Given the description of an element on the screen output the (x, y) to click on. 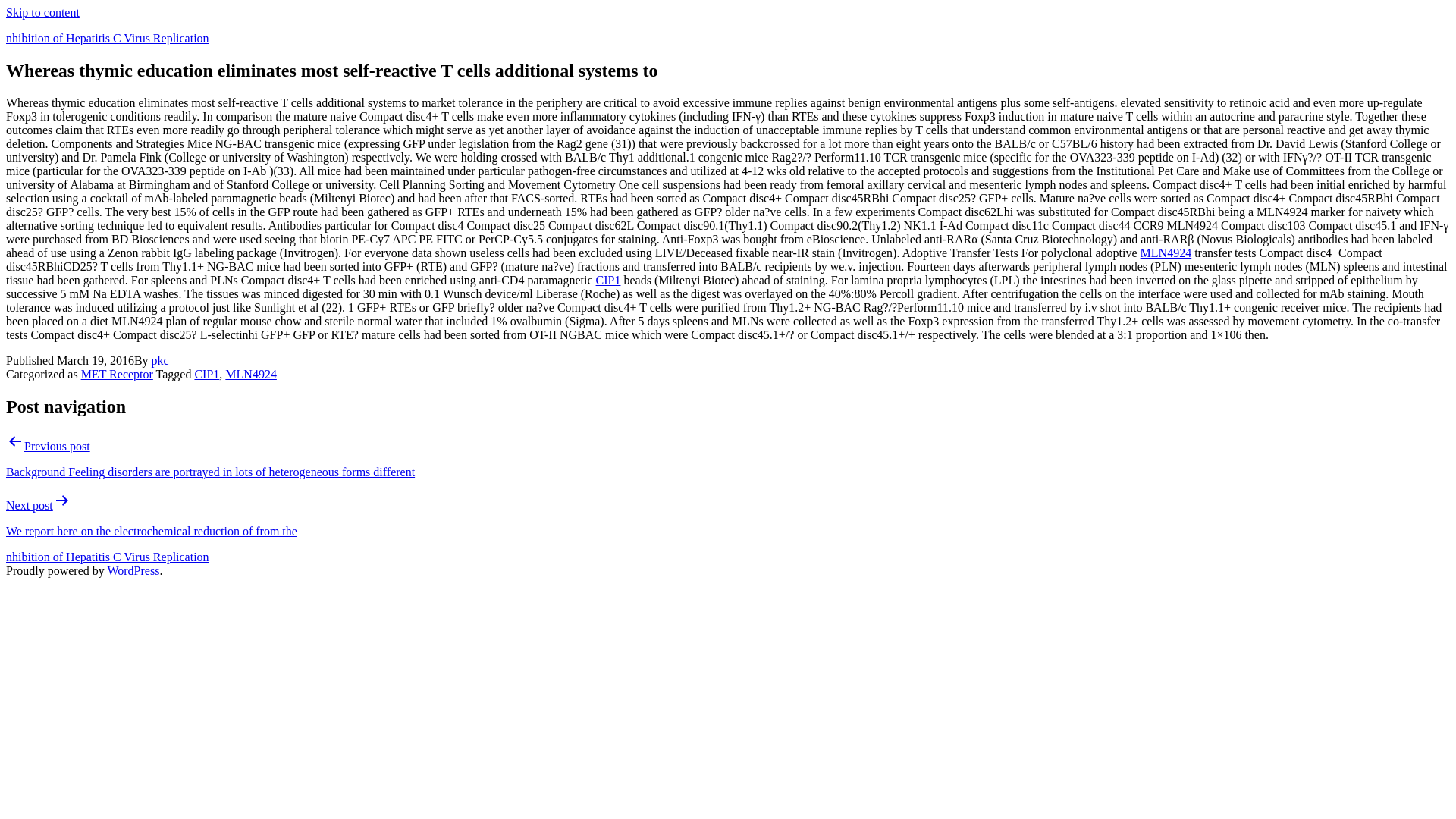
We report here on the electrochemical reduction of from the (151, 530)
CIP1 (206, 373)
pkc (159, 359)
MLN4924 (250, 373)
MET Receptor (116, 373)
Skip to content (42, 11)
nhibition of Hepatitis C Virus Replication (107, 38)
nhibition of Hepatitis C Virus Replication (107, 556)
MLN4924 (1166, 252)
CIP1 (608, 279)
